Given the description of an element on the screen output the (x, y) to click on. 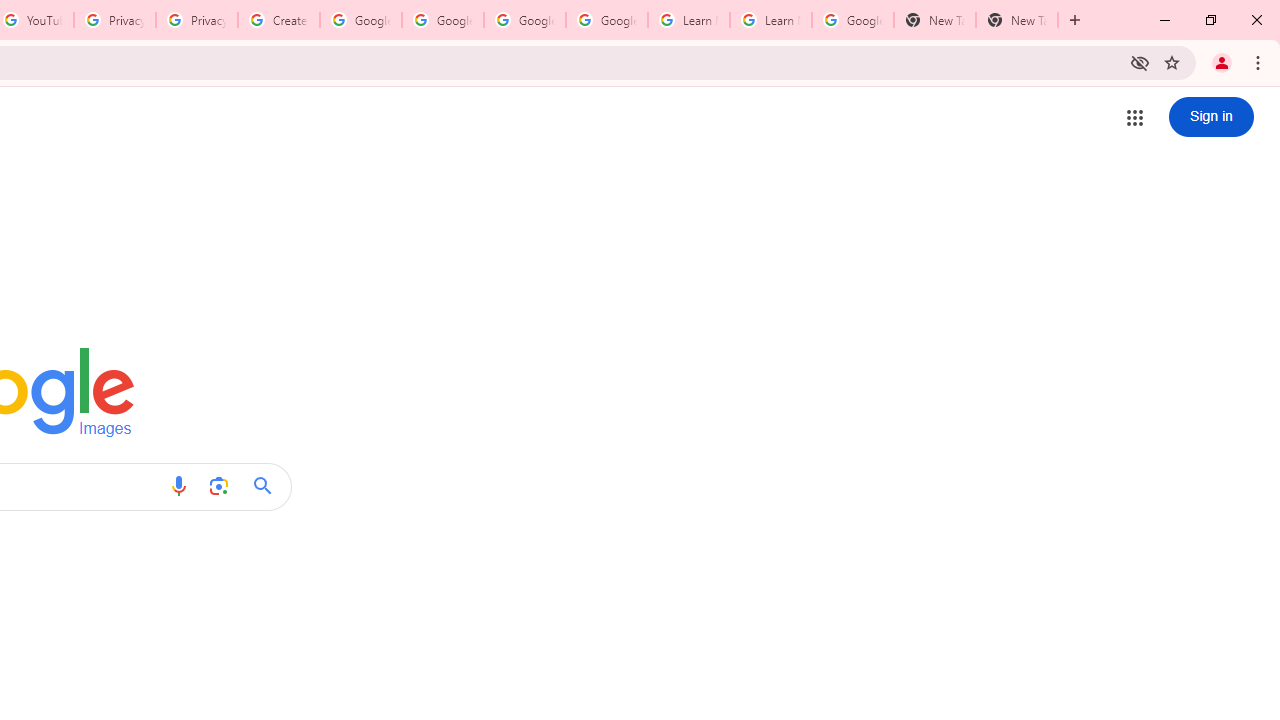
Google Account Help (524, 20)
New Tab (934, 20)
Google Account Help (606, 20)
Google Account Help (442, 20)
